Given the description of an element on the screen output the (x, y) to click on. 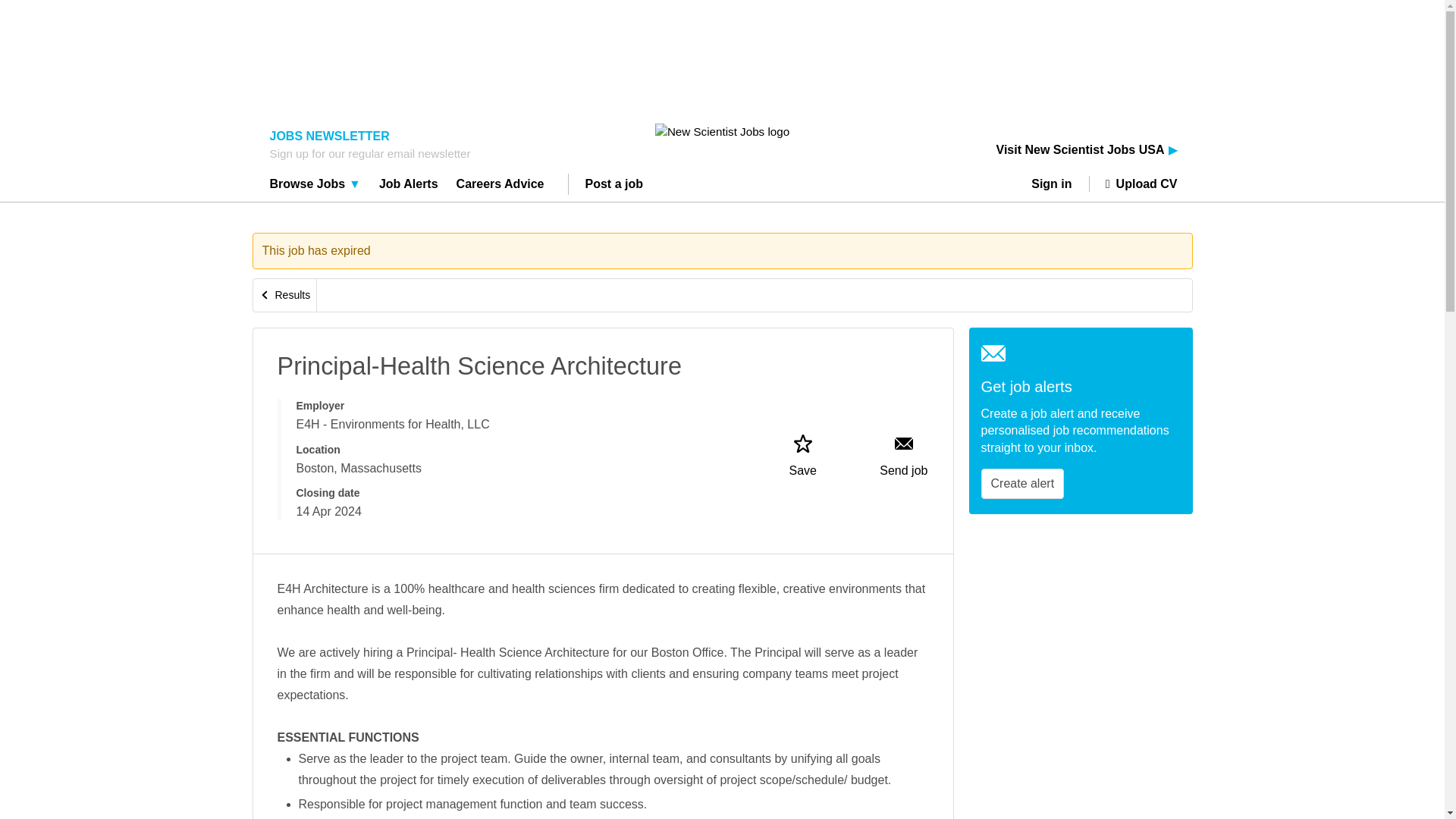
Careers Advice (500, 186)
Results (285, 295)
New Scientist Jobs (722, 131)
Job Alerts (409, 186)
Sign in (1057, 183)
Visit New Scientist Jobs USA (1086, 149)
Post a job (614, 186)
Upload CV (1133, 183)
